Given the description of an element on the screen output the (x, y) to click on. 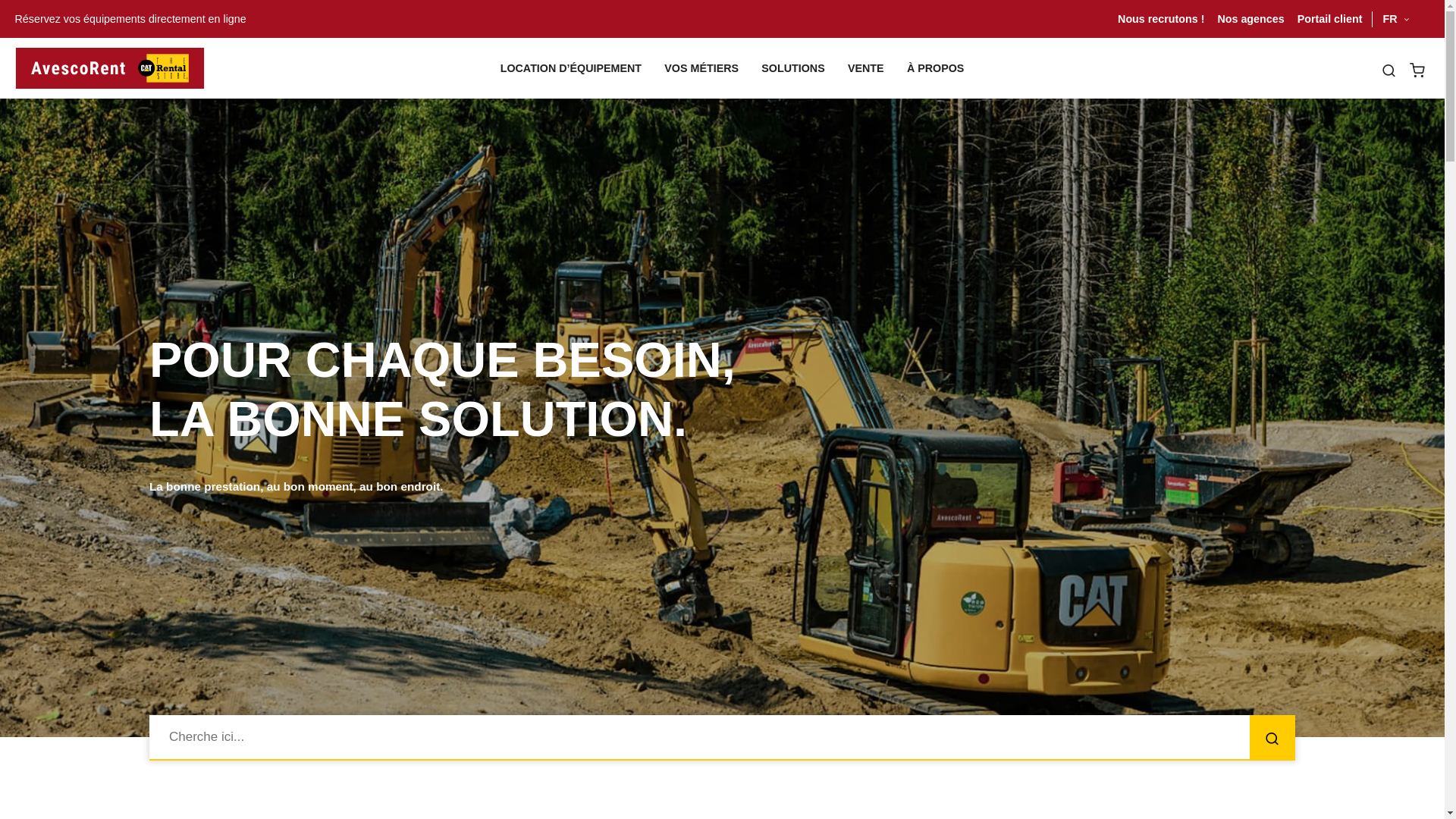
Recherche pour : Element type: hover (722, 737)
Portail client Element type: text (1329, 18)
SOLUTIONS Element type: text (792, 68)
submit Element type: text (1272, 737)
Nos agences Element type: text (1250, 18)
VENTE Element type: text (865, 68)
Nous recrutons ! Element type: text (1160, 18)
